Given the description of an element on the screen output the (x, y) to click on. 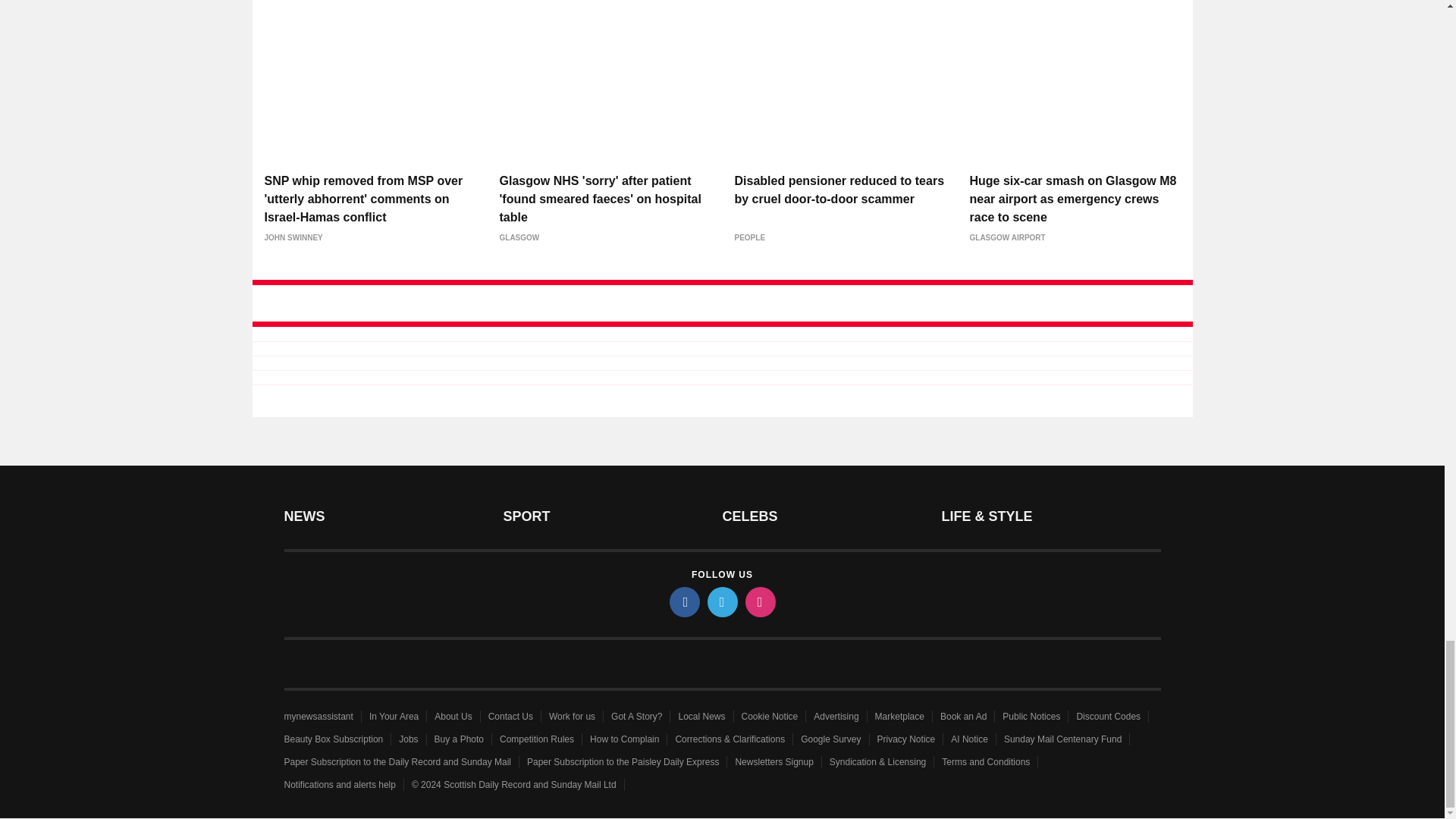
facebook (683, 602)
instagram (759, 602)
twitter (721, 602)
